Given the description of an element on the screen output the (x, y) to click on. 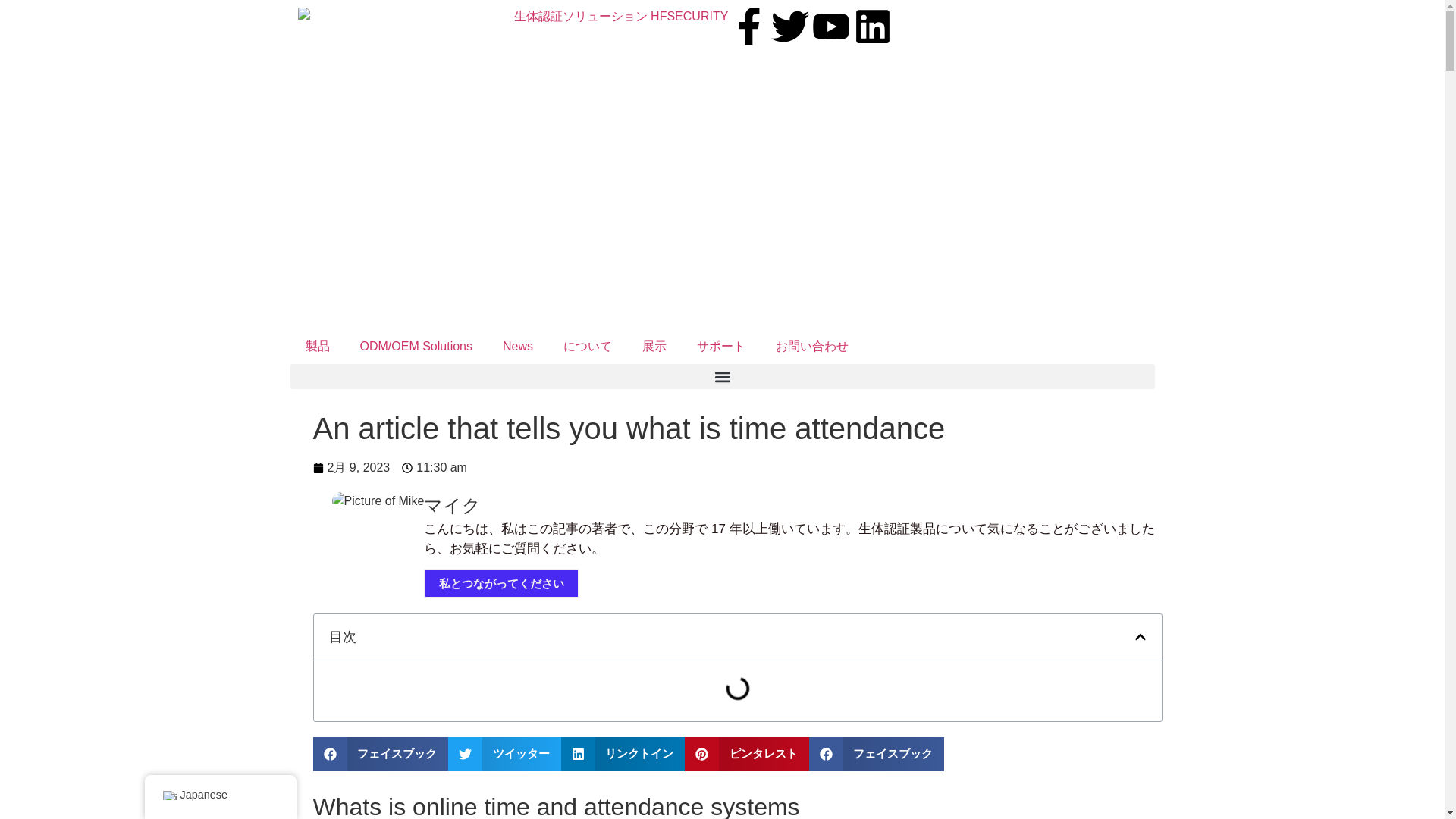
News (517, 346)
Japanese (168, 795)
